Given the description of an element on the screen output the (x, y) to click on. 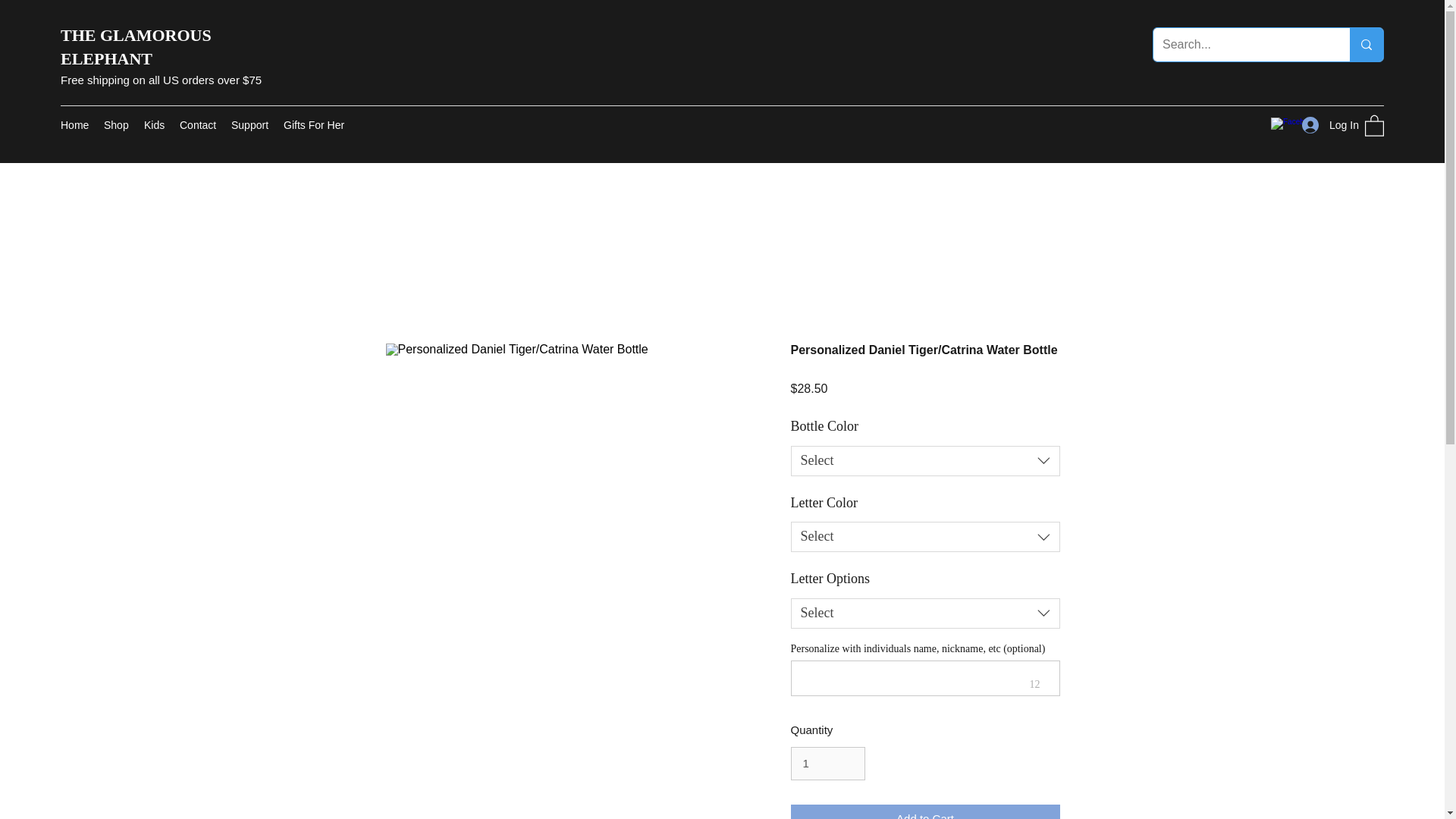
Contact (197, 124)
Shop (116, 124)
1 (827, 763)
Kids (153, 124)
Add to Cart (924, 811)
Gifts For Her (314, 124)
Select (924, 536)
Select (924, 613)
THE GLAMOROUS ELEPHANT (136, 46)
Select (924, 460)
